Given the description of an element on the screen output the (x, y) to click on. 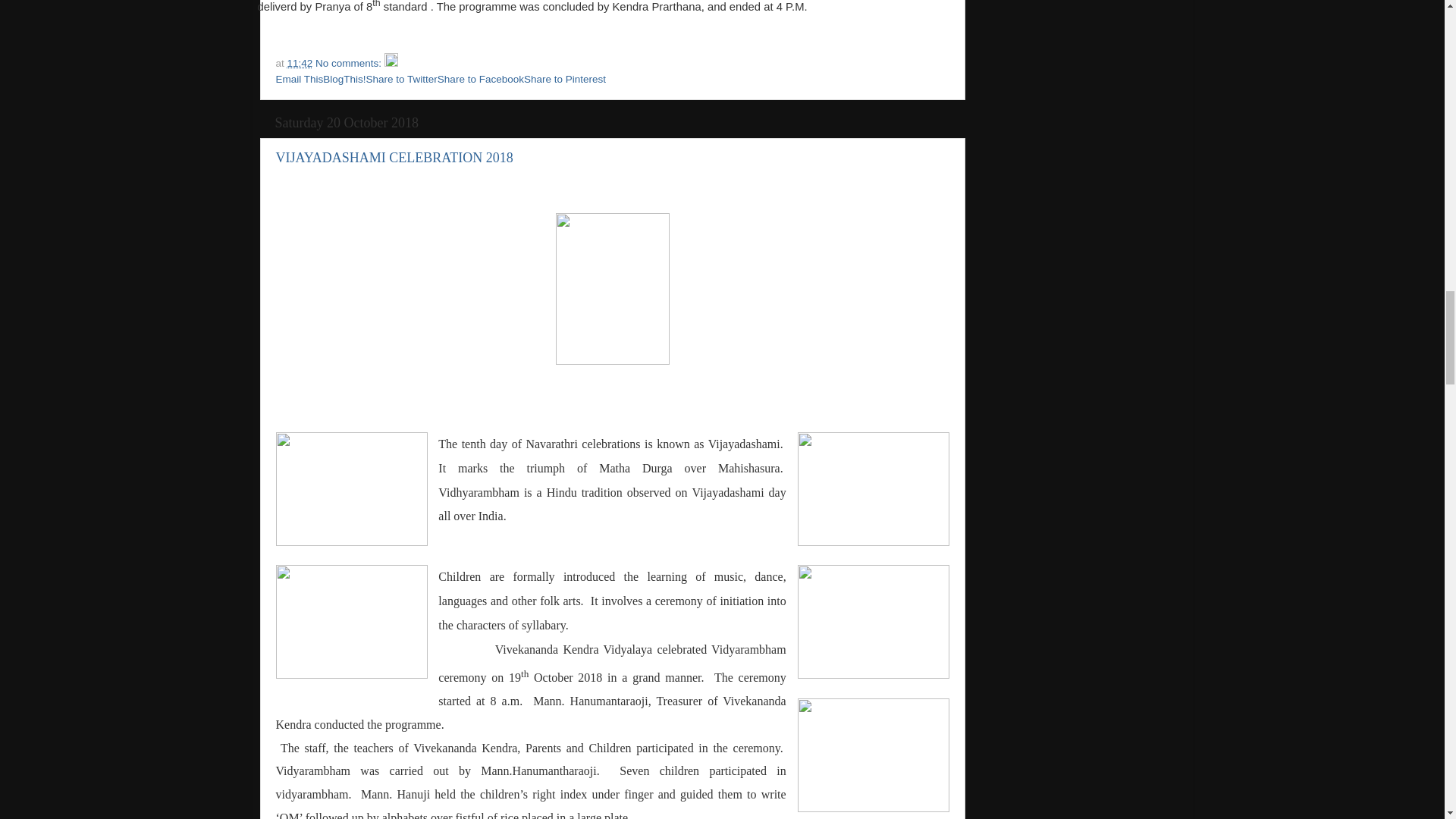
Share to Facebook (481, 79)
Share to Twitter (402, 79)
permanent link (299, 62)
Share to Pinterest (564, 79)
Email This (299, 79)
BlogThis! (344, 79)
Edit Post (390, 62)
